Given the description of an element on the screen output the (x, y) to click on. 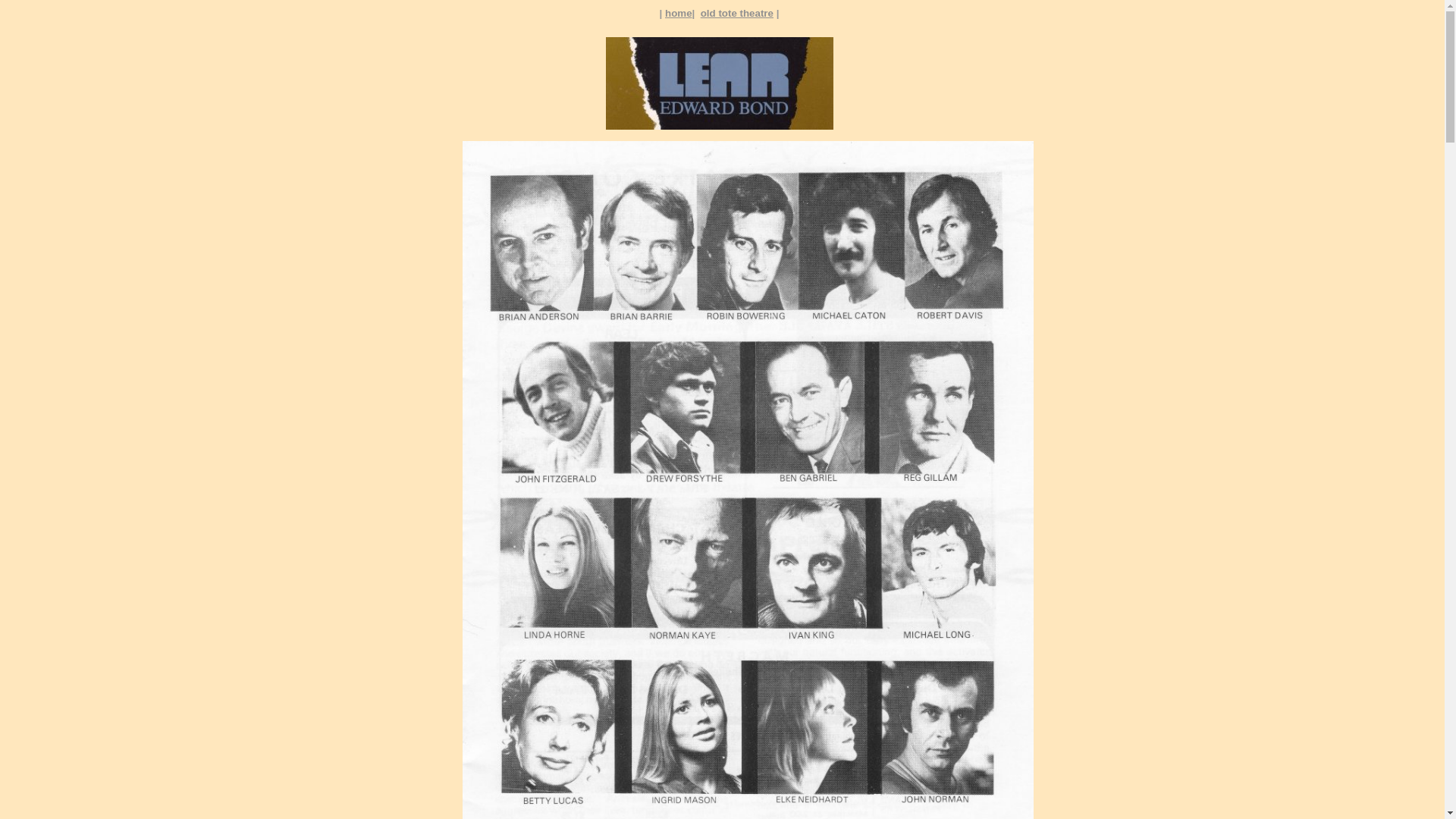
home Element type: text (678, 12)
old tote theatre Element type: text (736, 12)
